Given the description of an element on the screen output the (x, y) to click on. 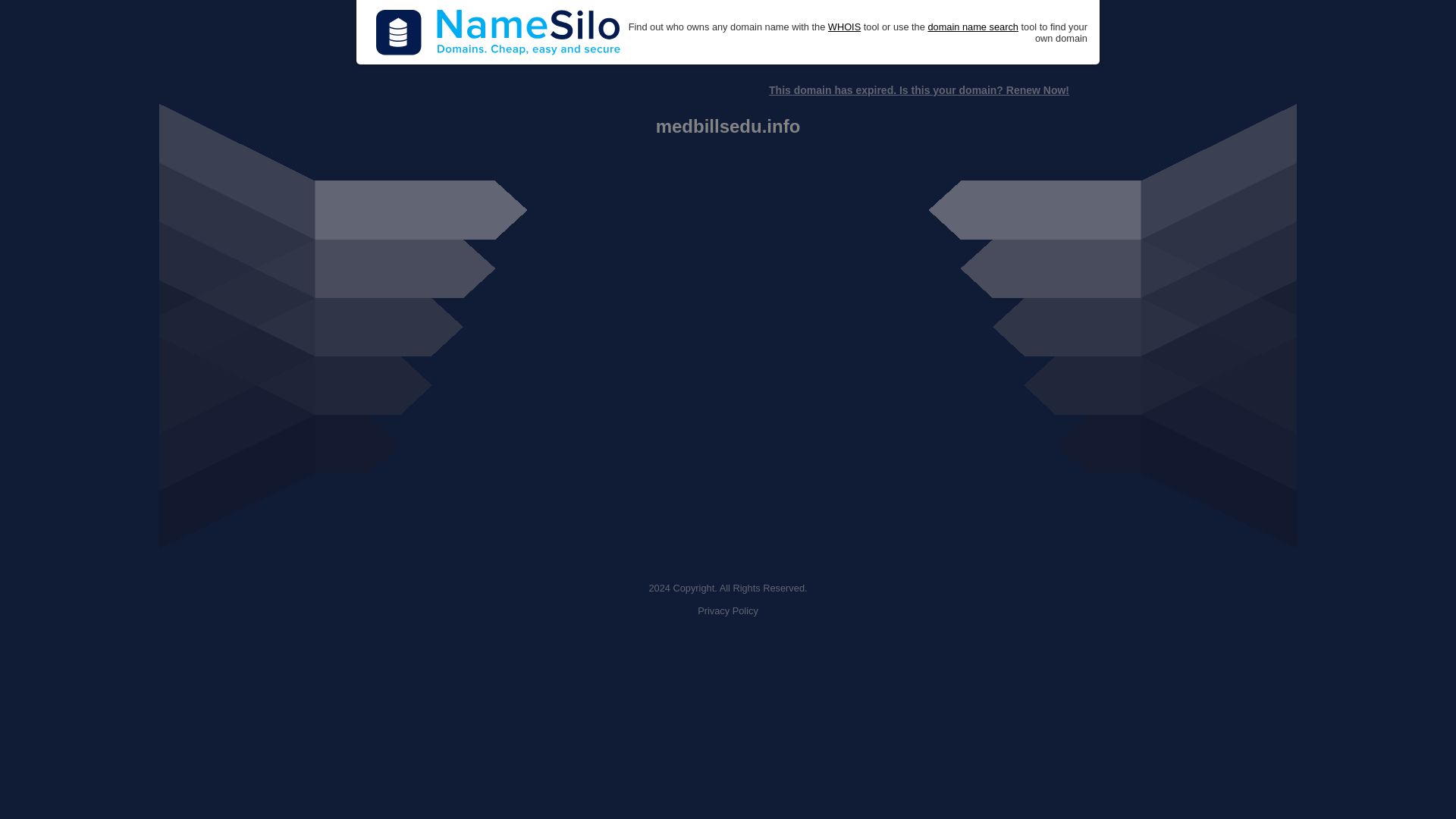
domain name search (972, 26)
WHOIS (844, 26)
Privacy Policy (727, 610)
This domain has expired. Is this your domain? Renew Now! (918, 90)
